Given the description of an element on the screen output the (x, y) to click on. 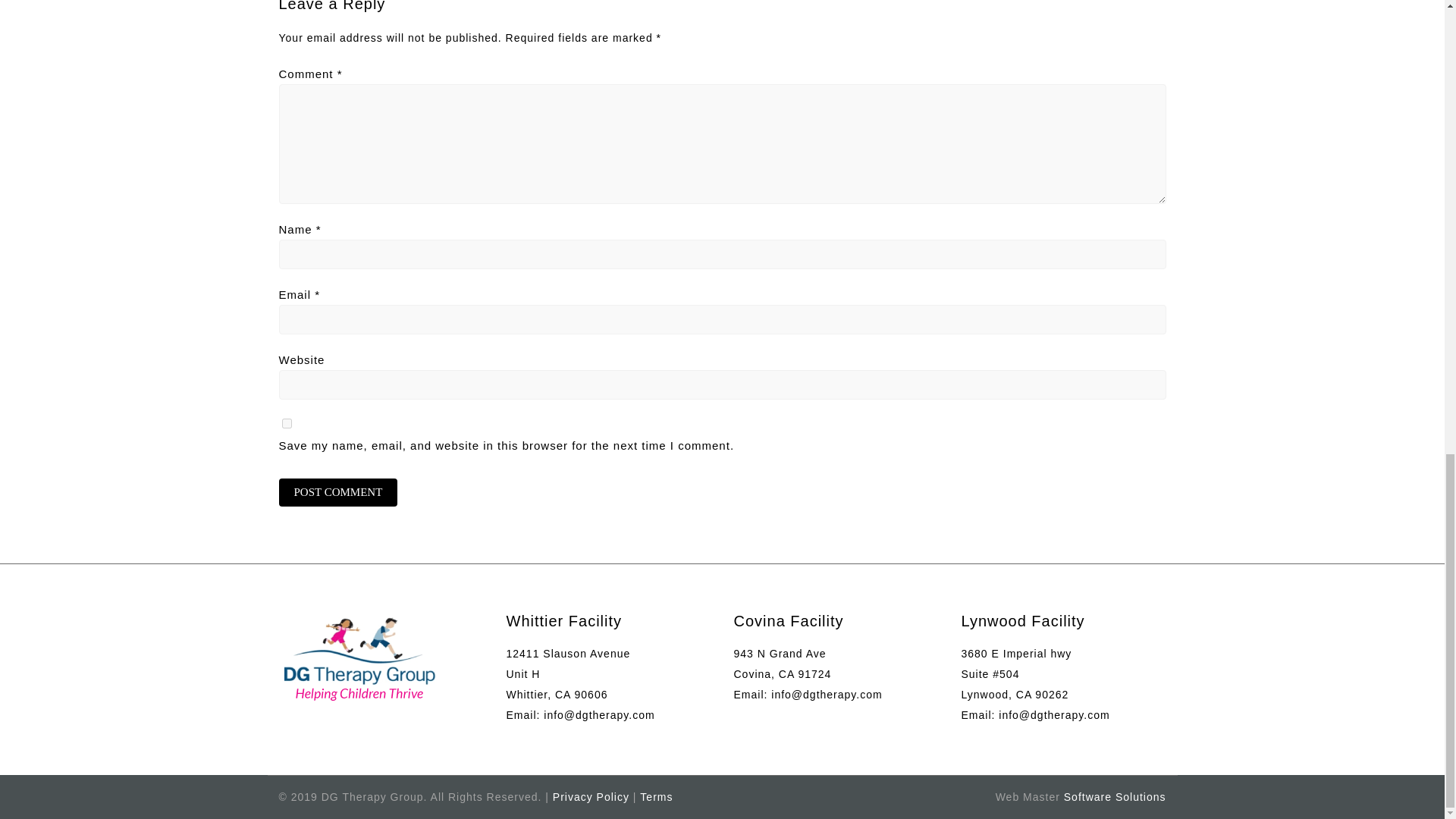
yes (287, 423)
Post Comment (338, 492)
